Given the description of an element on the screen output the (x, y) to click on. 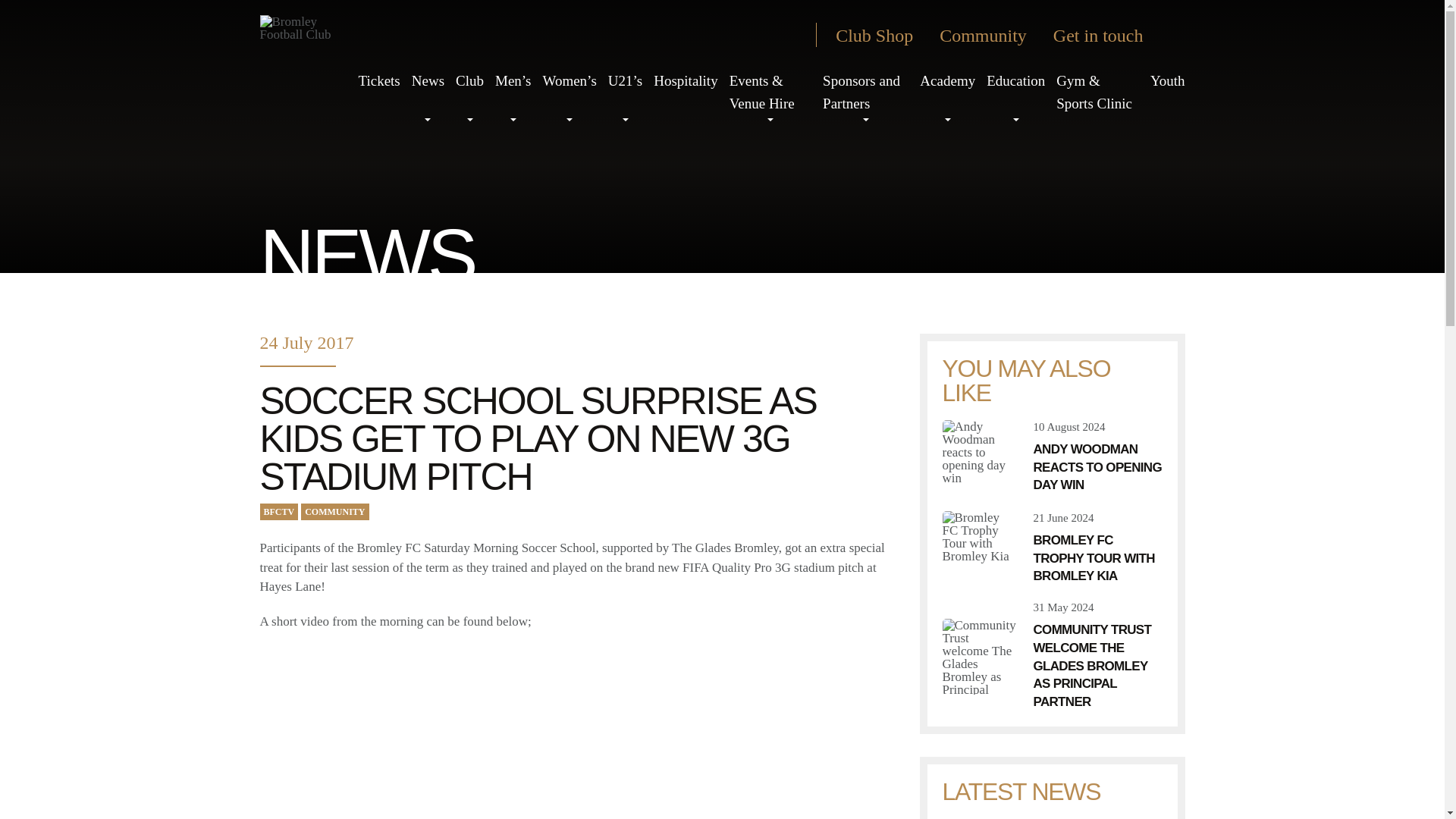
LinkedIn (788, 34)
Tickets (378, 80)
Community (982, 35)
Search (1173, 34)
TikTok (734, 34)
Club Shop (873, 35)
Twitter (679, 34)
News (428, 80)
Facebook (707, 34)
Club (469, 80)
